Given the description of an element on the screen output the (x, y) to click on. 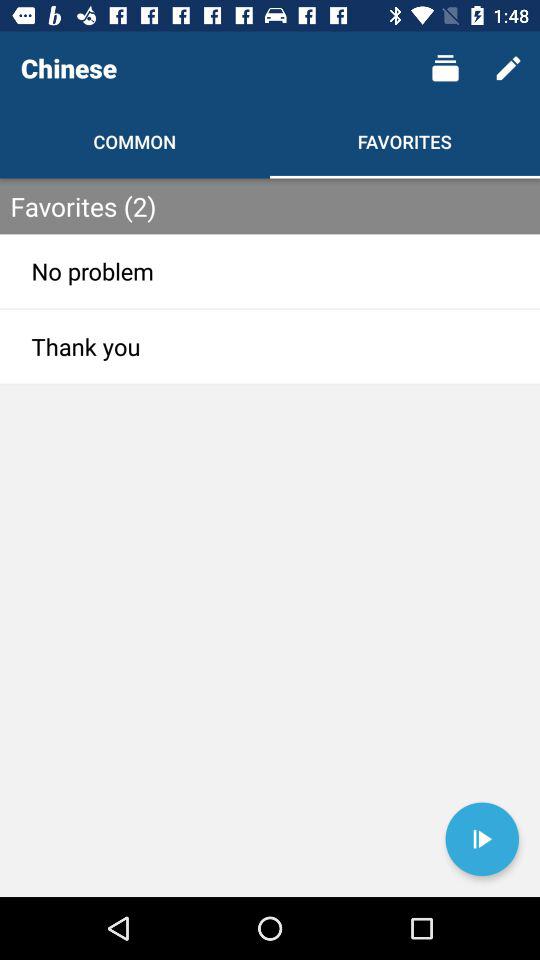
select the icon at the bottom right corner (482, 839)
